Given the description of an element on the screen output the (x, y) to click on. 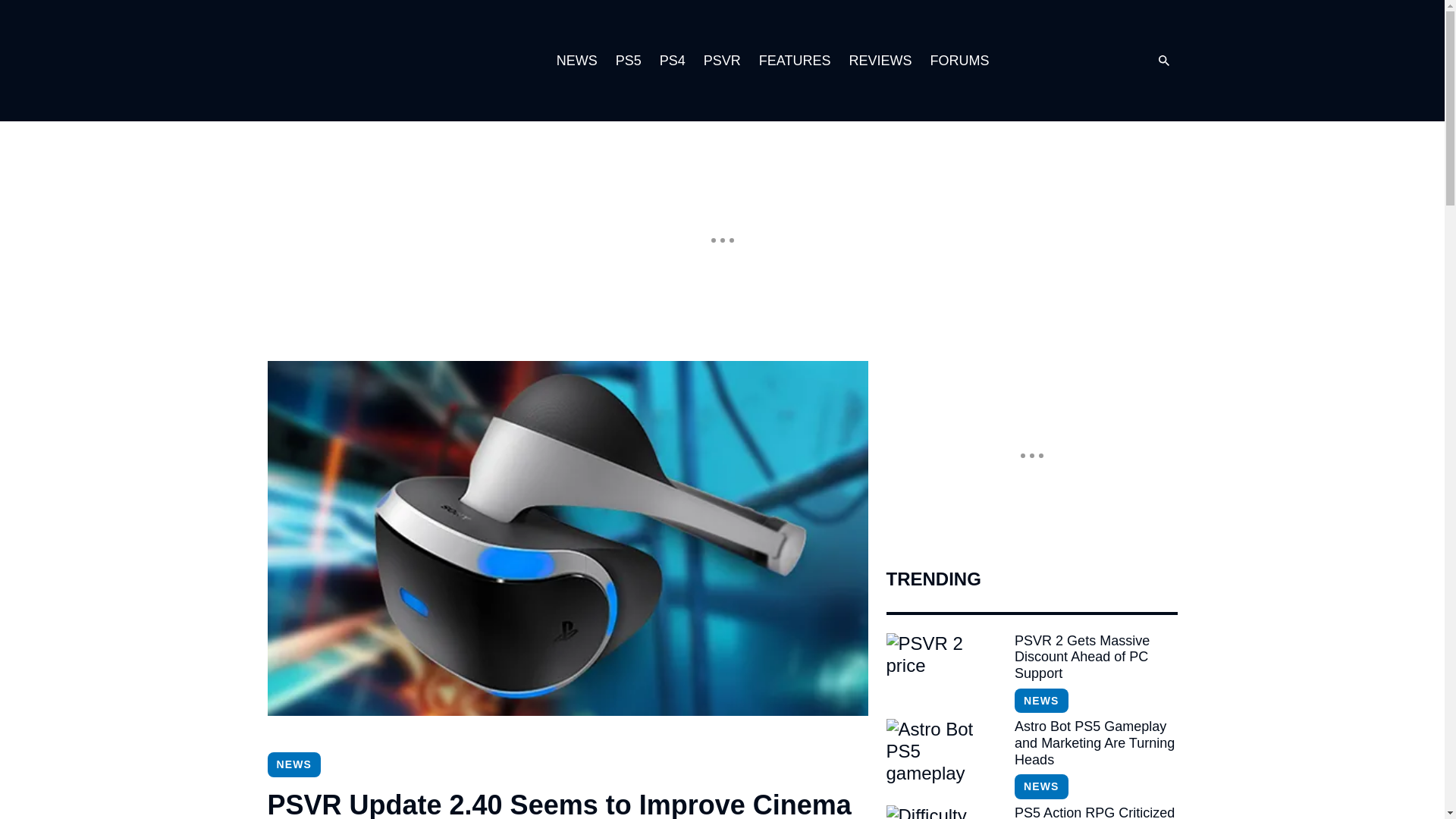
NEWS (577, 60)
Facebook (1109, 60)
NEWS (293, 764)
PSVR (721, 60)
PSVR 2 Gets Massive Discount Ahead of PC Support (1095, 657)
Astro Bot PS5 Gameplay and Marketing Are Turning Heads (1095, 743)
Instagram (1048, 60)
Twitter (1079, 60)
FEATURES (794, 60)
Astro Bot PS5 Gameplay and Marketing Are Turning Heads (944, 757)
FORUMS (958, 60)
REVIEWS (880, 60)
